Given the description of an element on the screen output the (x, y) to click on. 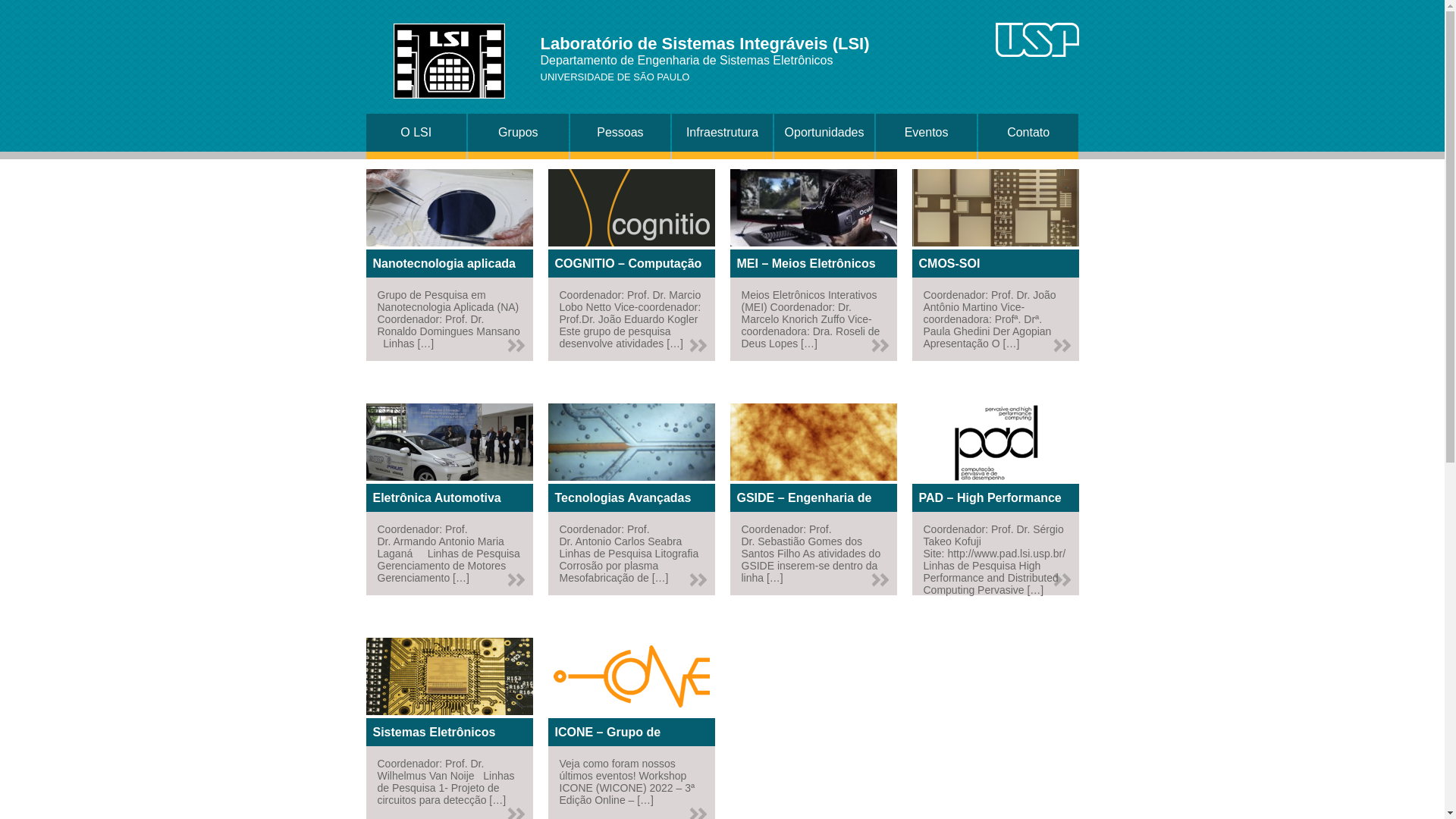
Pessoas Element type: text (620, 132)
Oportunidades Element type: text (824, 132)
O LSI Element type: text (415, 132)
Grupos Element type: text (517, 132)
Contato Element type: text (1028, 132)
Eventos Element type: text (925, 132)
Infraestrutura Element type: text (721, 132)
Site da USP Element type: hover (1036, 39)
